Given the description of an element on the screen output the (x, y) to click on. 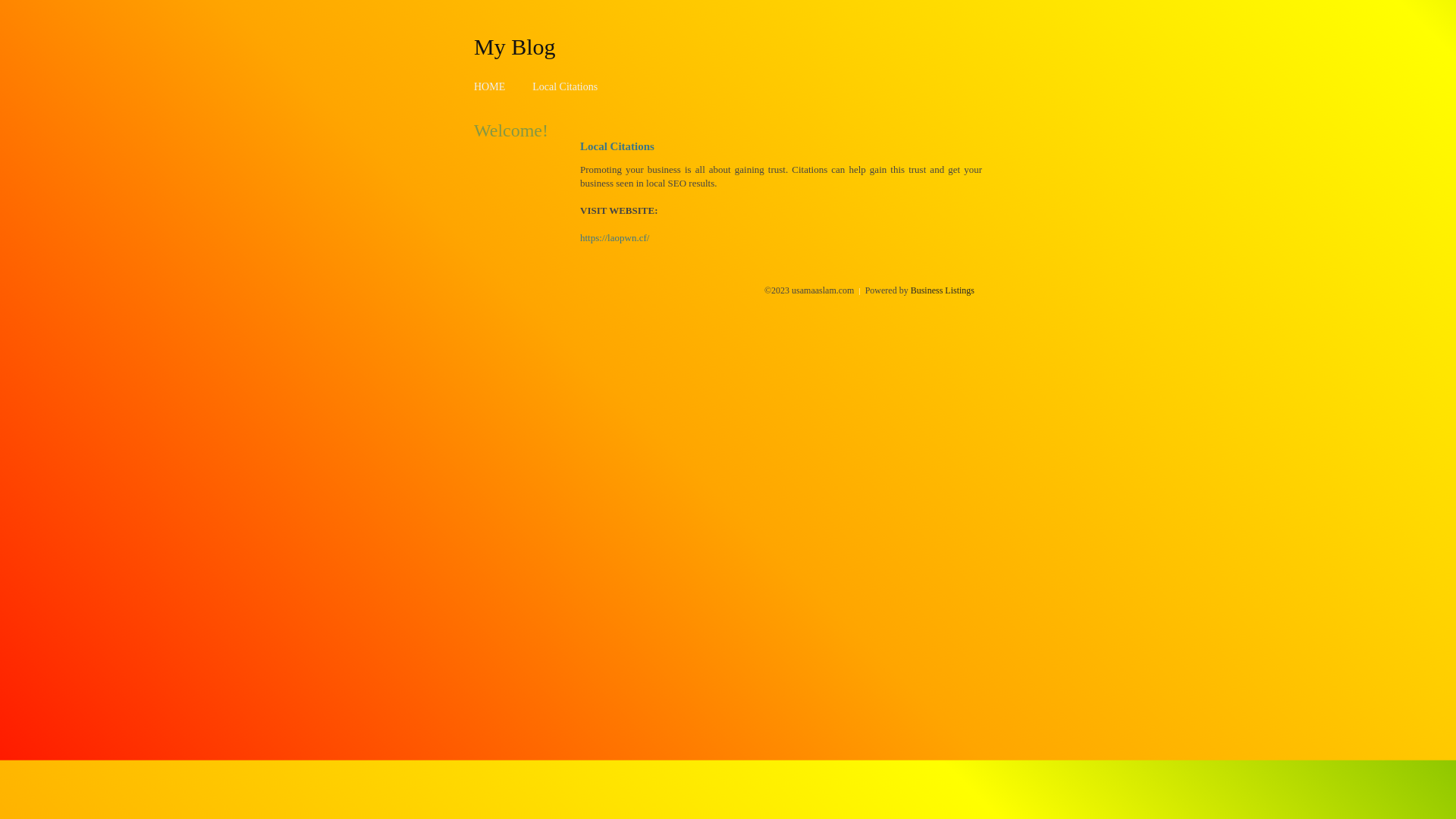
HOME Element type: text (489, 86)
Local Citations Element type: text (564, 86)
Business Listings Element type: text (942, 290)
https://laopwn.cf/ Element type: text (614, 237)
My Blog Element type: text (514, 46)
